Given the description of an element on the screen output the (x, y) to click on. 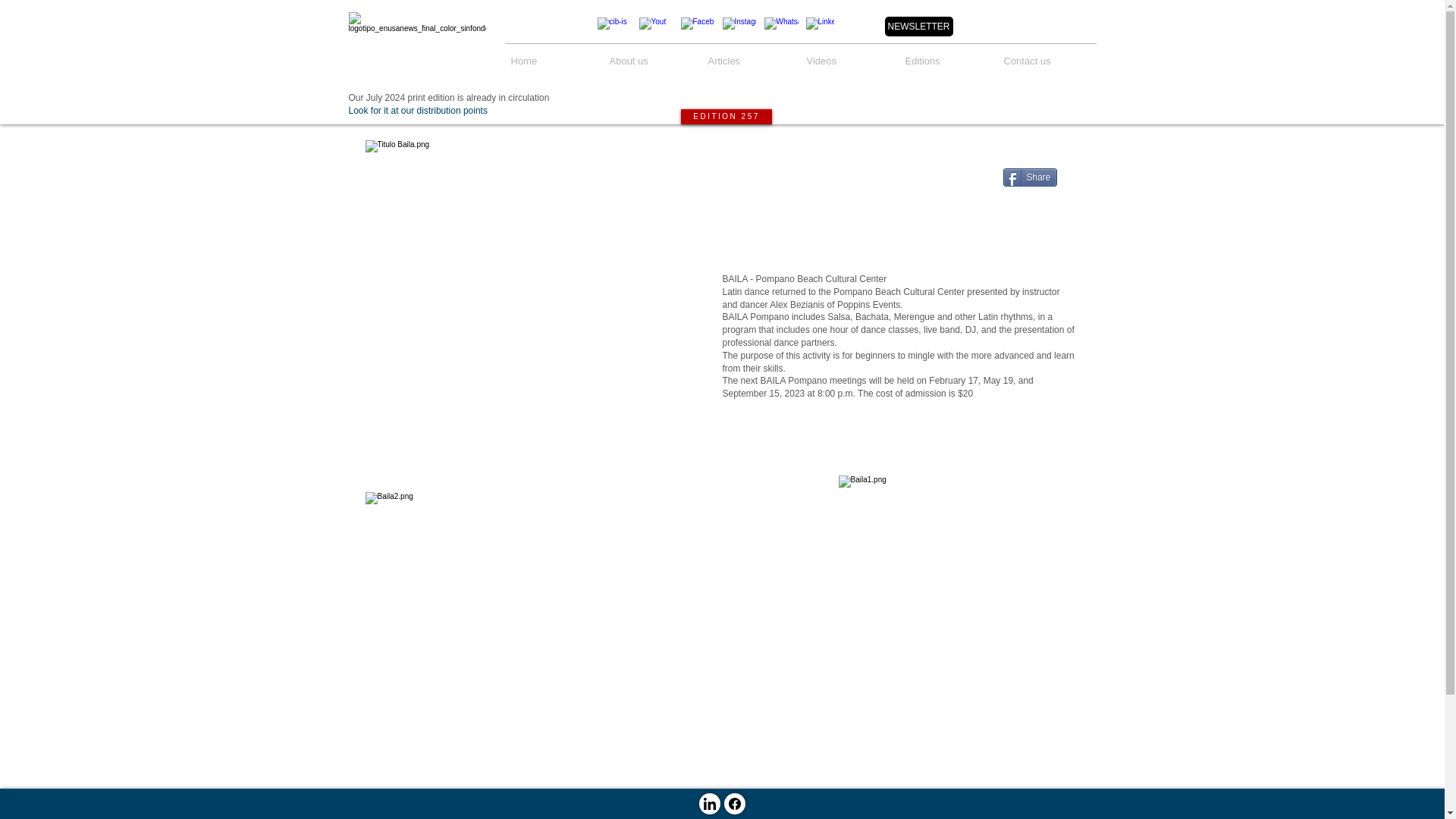
Share (1030, 177)
Home (554, 54)
Editions (948, 54)
Videos (849, 54)
Share (1030, 177)
NEWSLETTER (917, 26)
Twitter Tweet (1029, 204)
Articles (750, 54)
Contact us (1046, 54)
About us (652, 54)
